Given the description of an element on the screen output the (x, y) to click on. 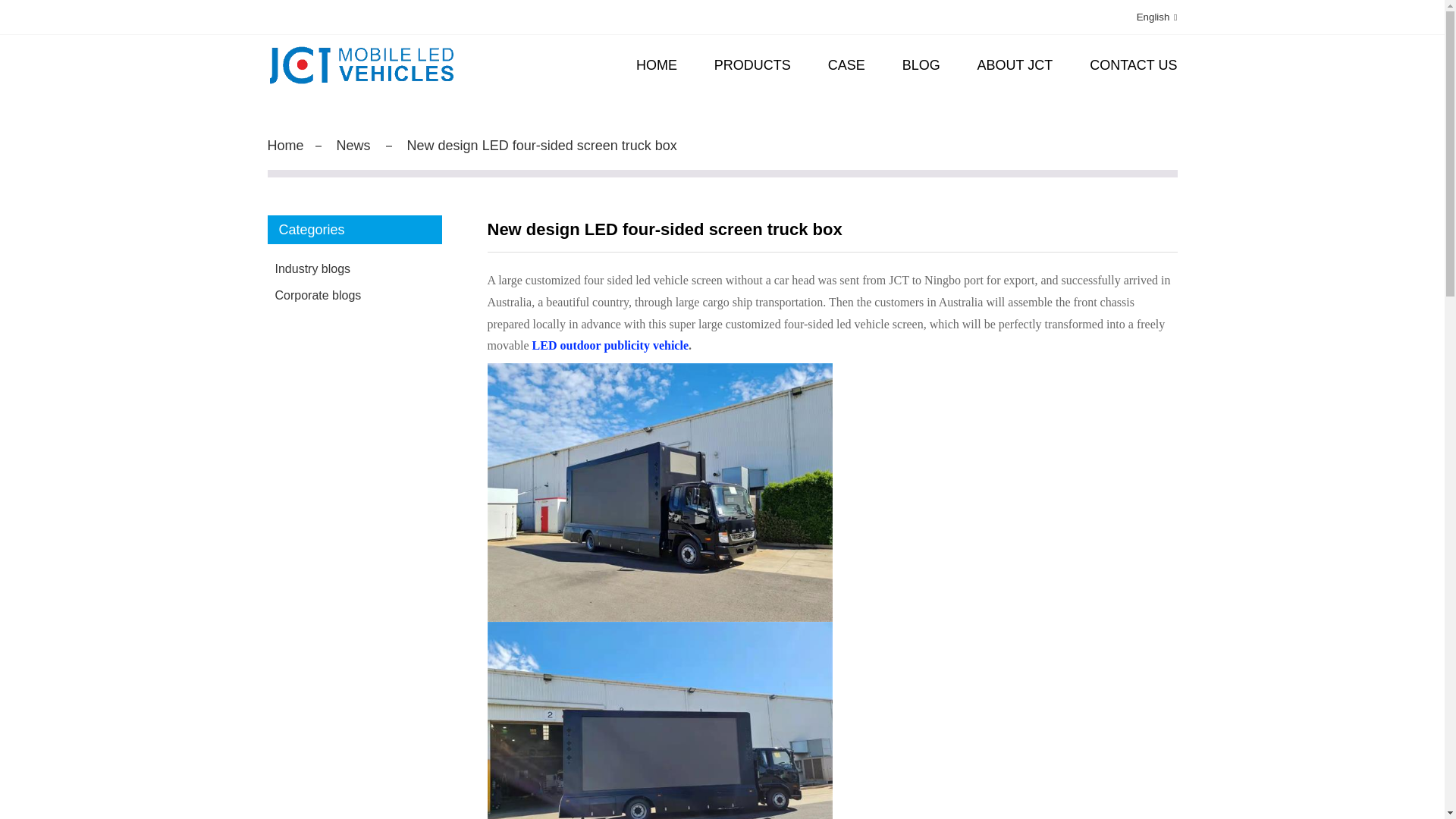
Corporate blogs (343, 294)
CONTACT US (1132, 65)
ABOUT JCT (1014, 65)
PRODUCTS (752, 65)
LED outdoor publicity vehicle (610, 345)
Home (284, 145)
English (1144, 16)
Industry blogs (343, 268)
News (353, 145)
New design LED four-sided screen truck box (542, 145)
